Given the description of an element on the screen output the (x, y) to click on. 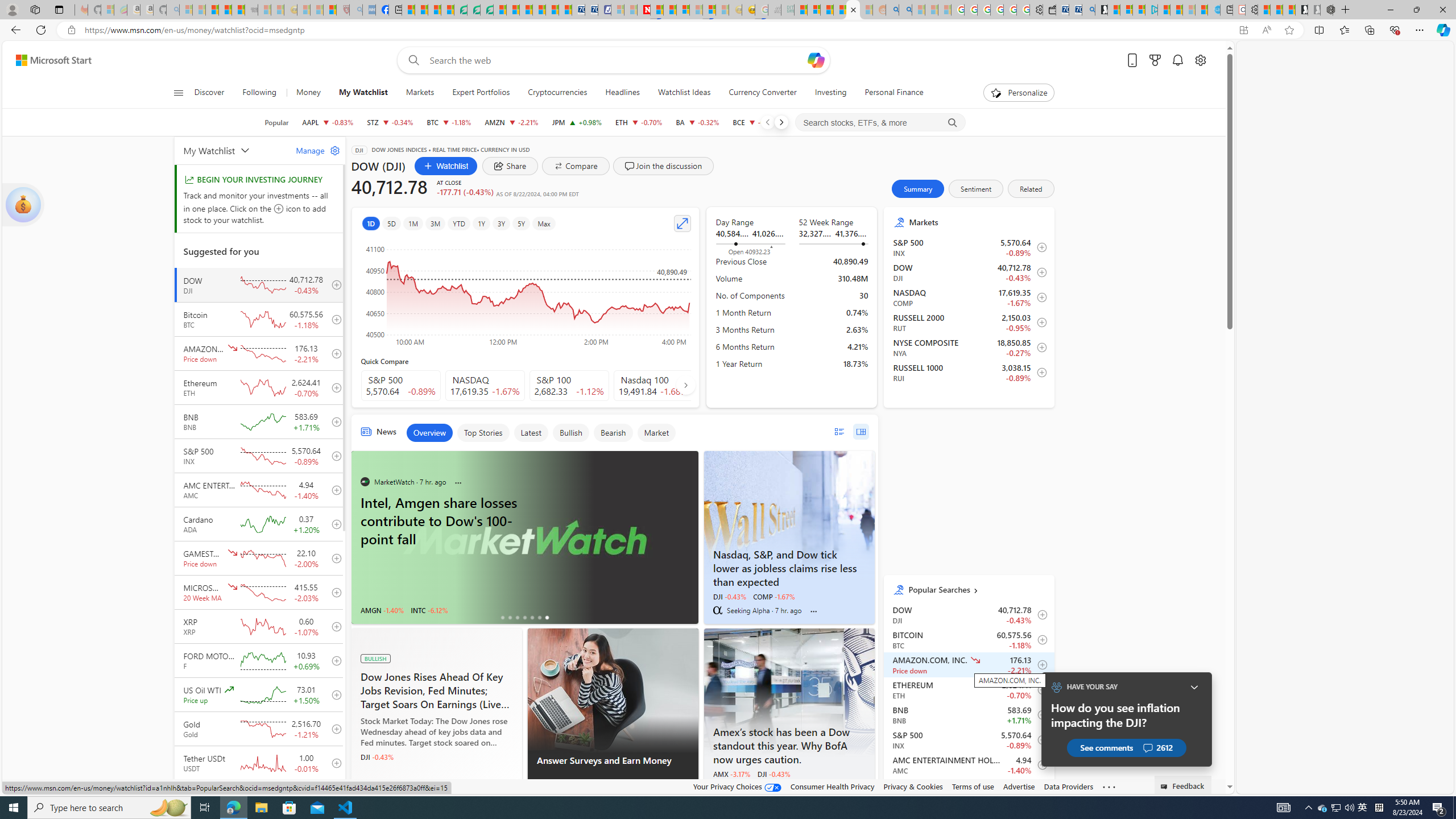
5Y (520, 223)
Market (656, 432)
New Report Confirms 2023 Was Record Hot | Watch (237, 9)
Consumer Health Privacy (832, 785)
YTD (458, 223)
Investing (830, 92)
World - MSN (434, 9)
Privacy & Cookies (913, 786)
